Given the description of an element on the screen output the (x, y) to click on. 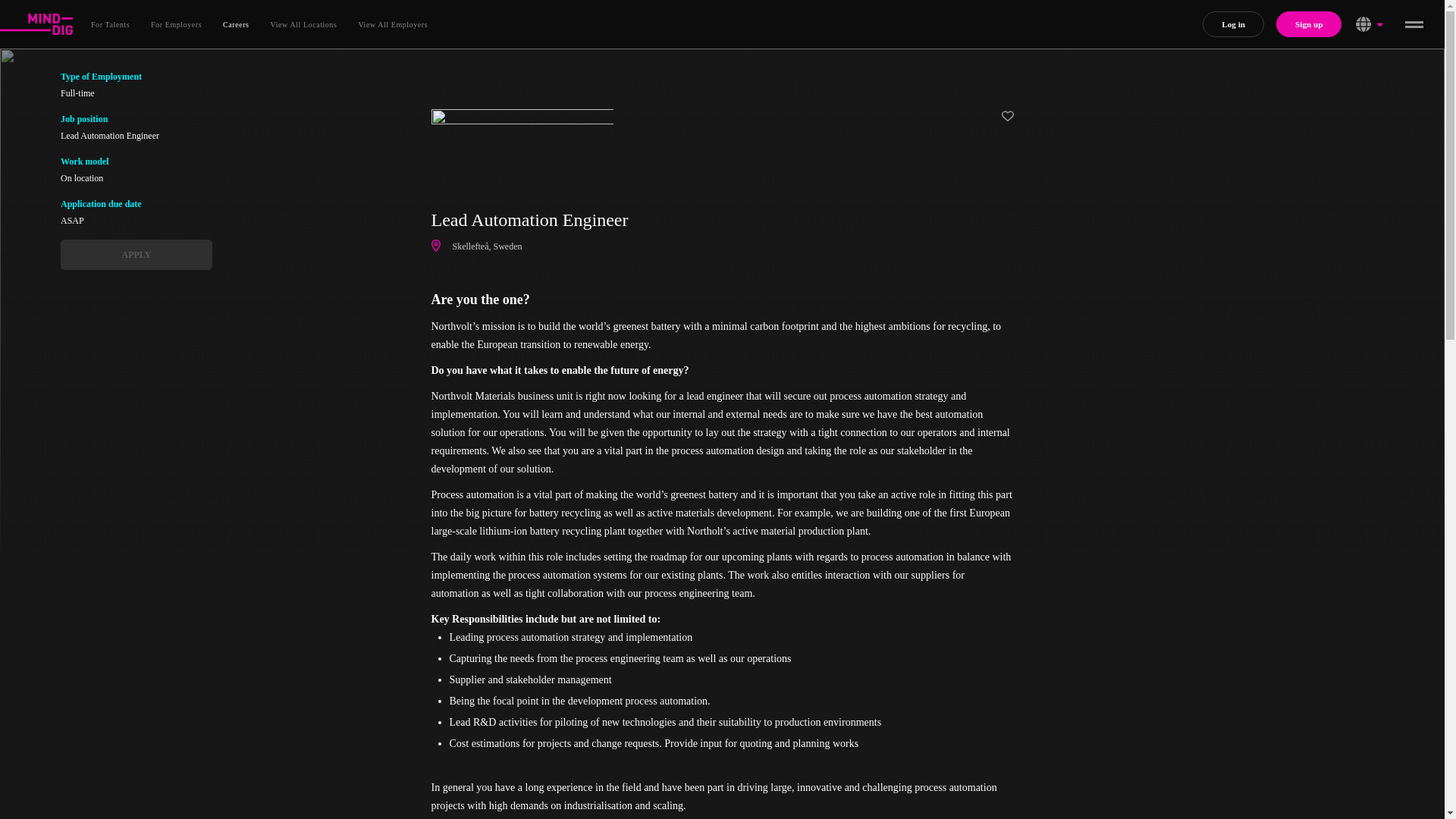
View All Locations (303, 23)
APPLY (136, 254)
For Employers (176, 23)
Careers (235, 23)
Sign up (1308, 24)
View All Employers (393, 23)
For Talents (109, 23)
Log in (1232, 24)
